Given the description of an element on the screen output the (x, y) to click on. 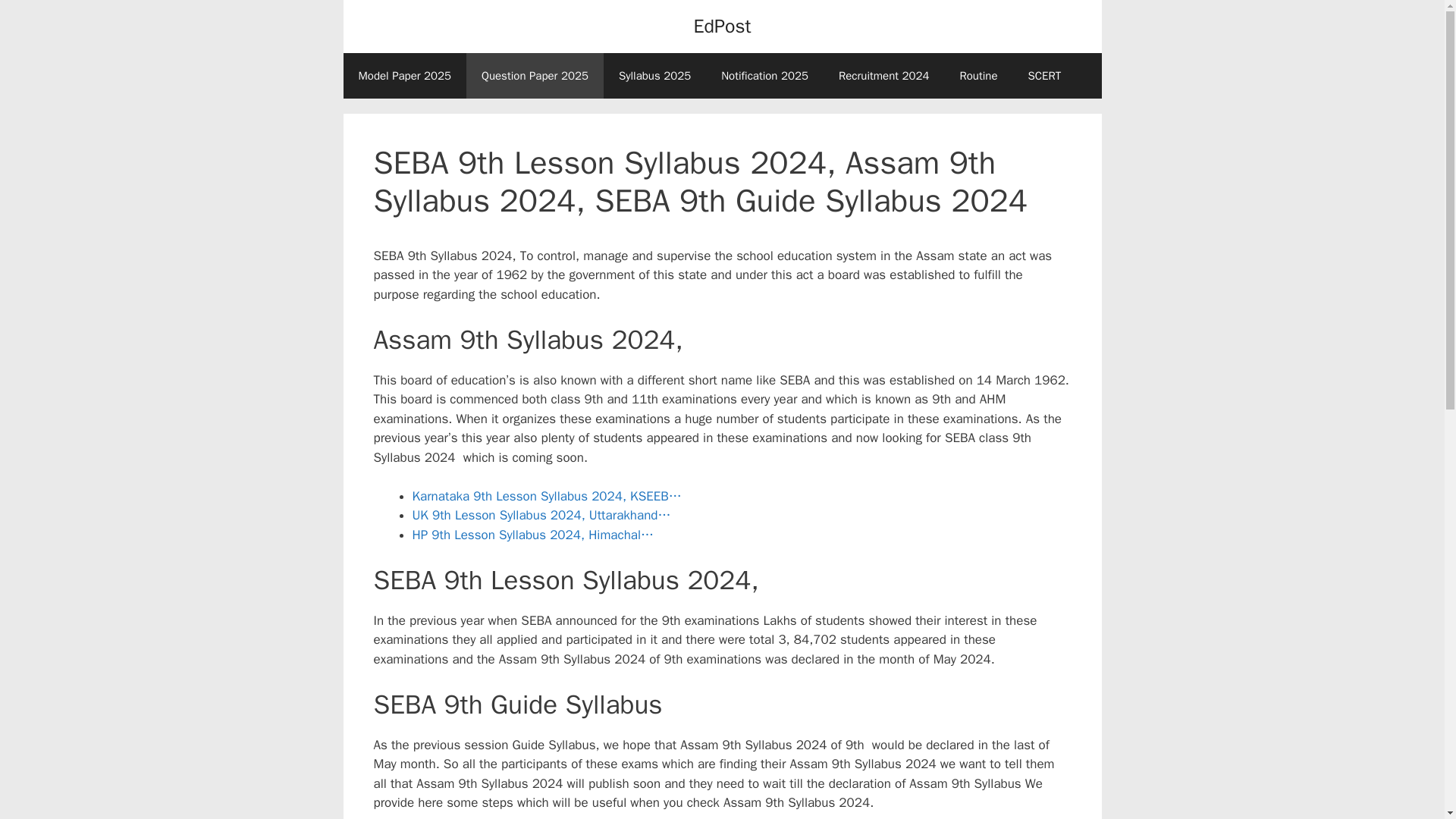
Routine (977, 75)
Model Paper 2025 (403, 75)
Recruitment 2024 (884, 75)
Syllabus 2025 (655, 75)
SCERT (1045, 75)
Notification 2025 (765, 75)
EdPost (722, 25)
Question Paper 2025 (534, 75)
